Given the description of an element on the screen output the (x, y) to click on. 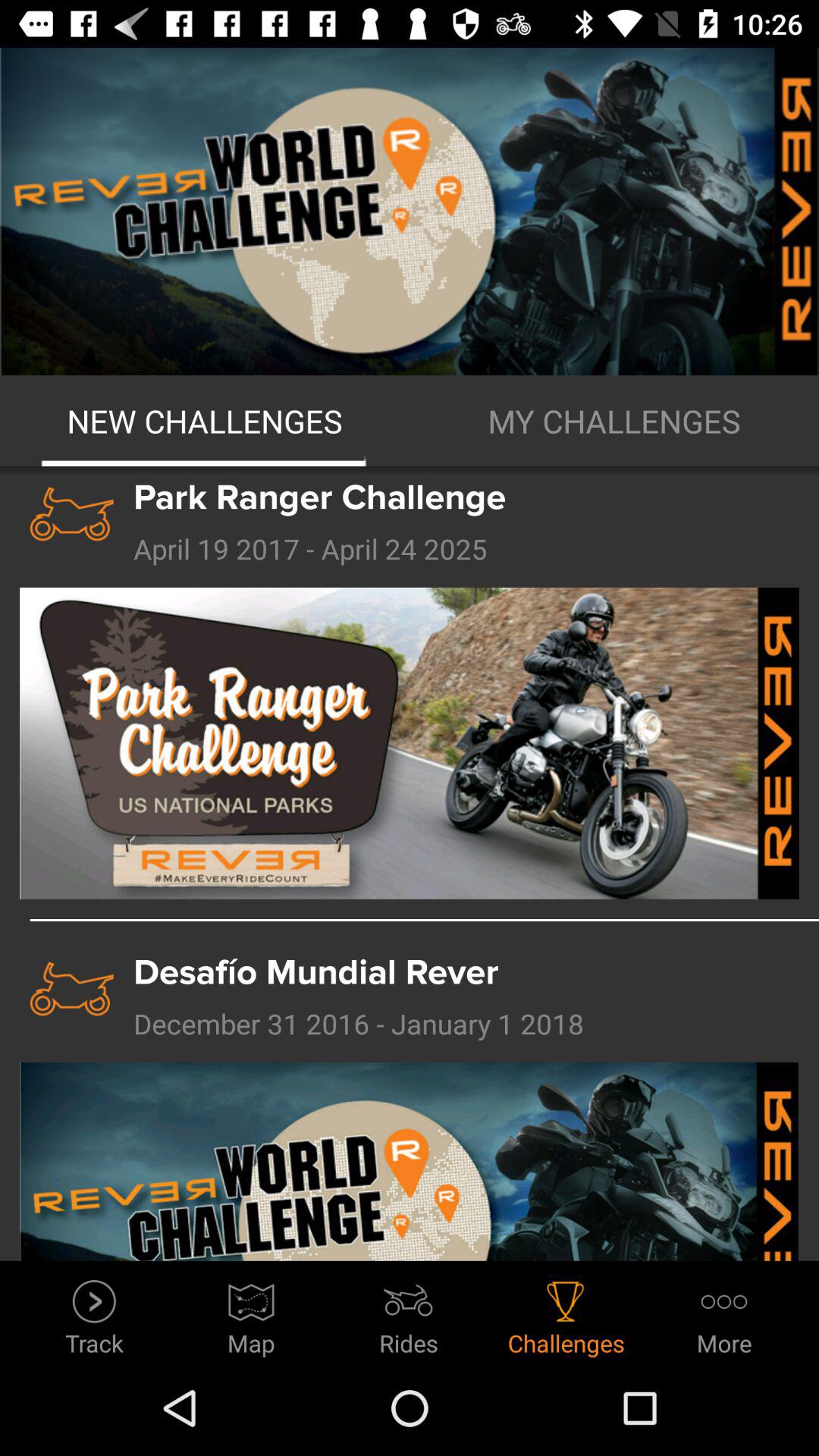
jump until the track item (93, 1313)
